Given the description of an element on the screen output the (x, y) to click on. 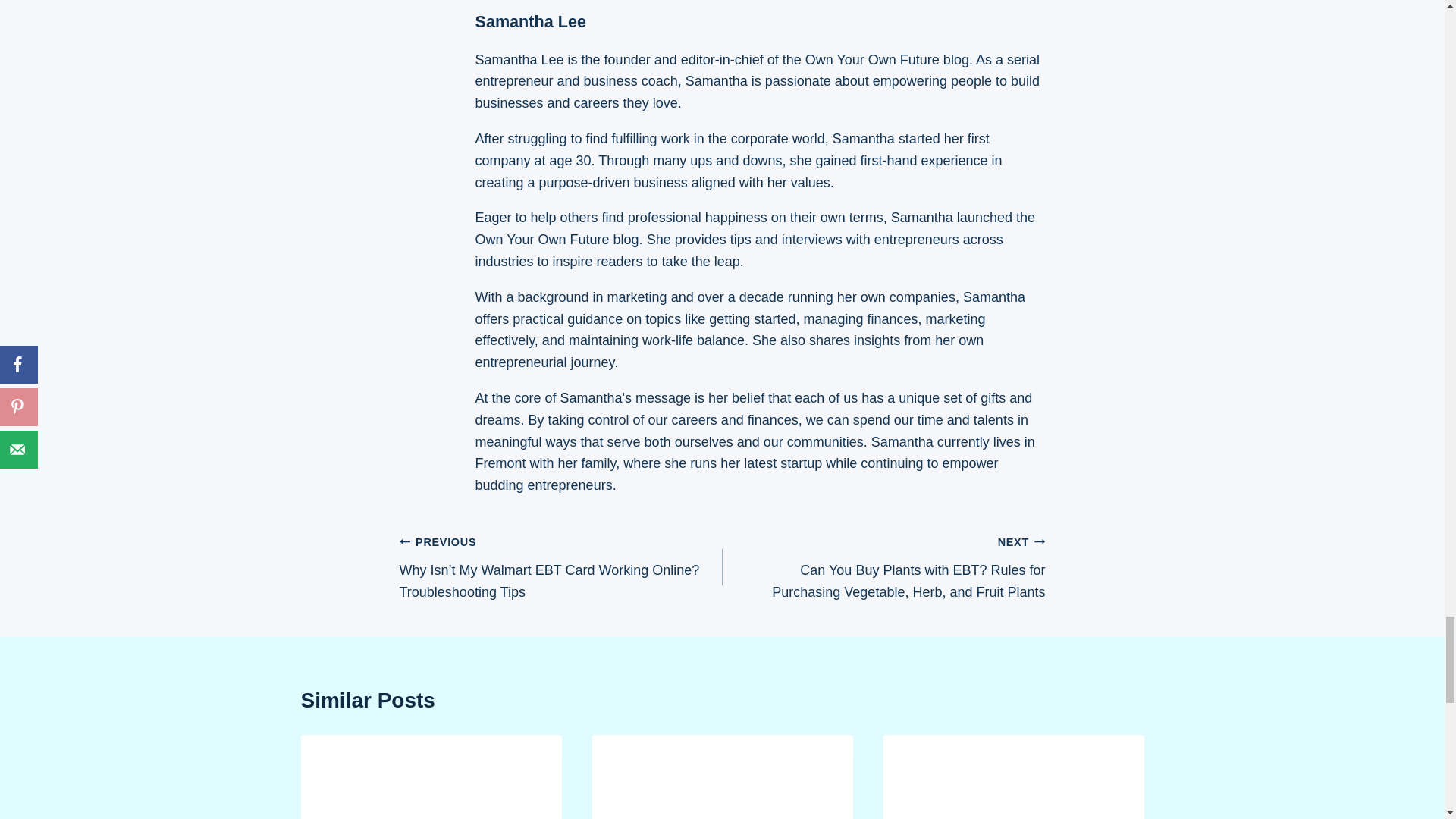
Samantha Lee (529, 21)
Posts by Samantha Lee (529, 21)
